Given the description of an element on the screen output the (x, y) to click on. 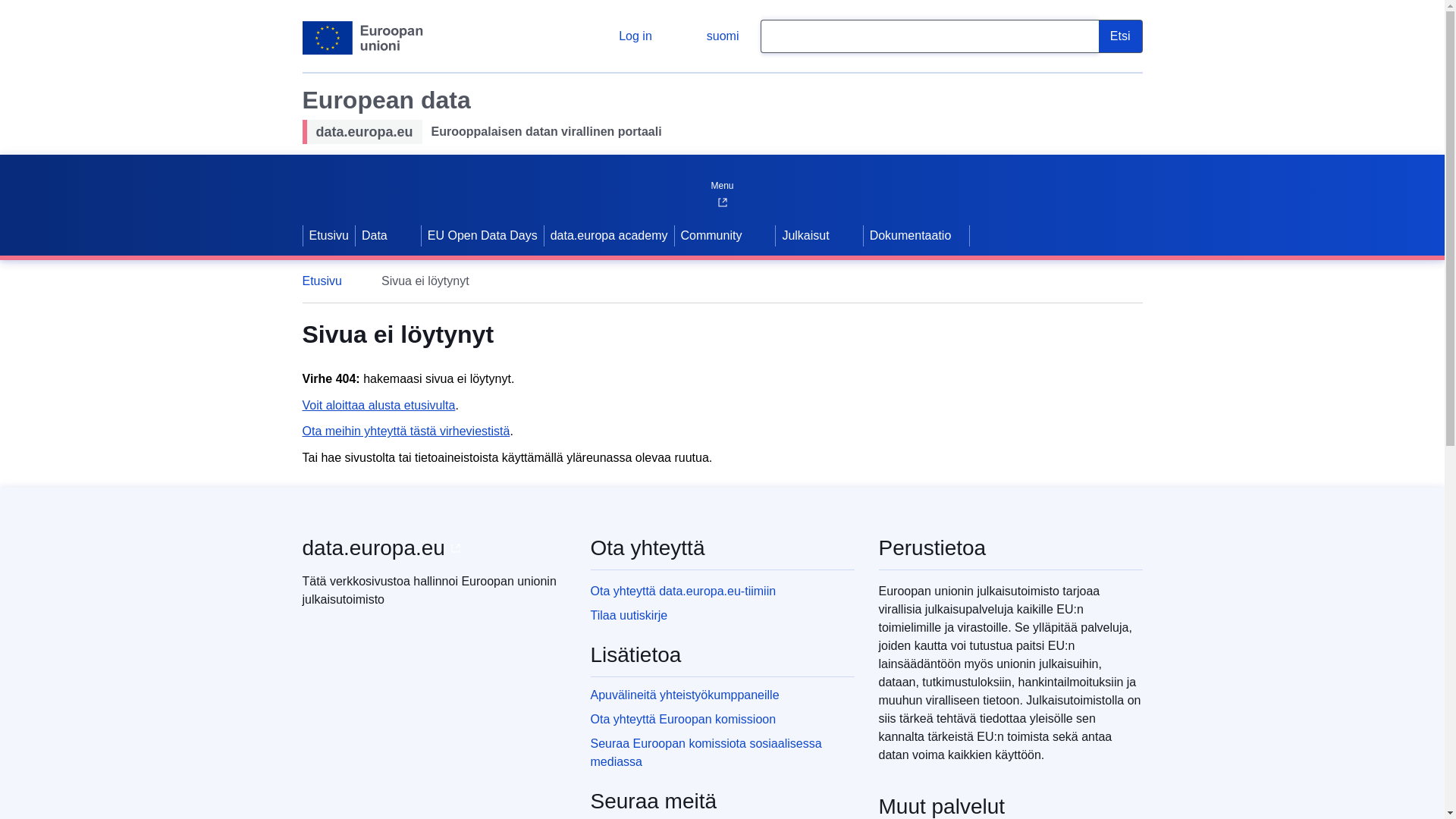
suomi (710, 36)
EU Open Data Days (482, 235)
Julkaisut (803, 235)
Voit aloittaa alusta etusivulta (377, 404)
European Union (362, 37)
Etsi (1120, 36)
Etusivu (328, 235)
Menu (721, 181)
Community (710, 235)
data.europa academy (609, 235)
Etusivu (328, 280)
Log in (622, 36)
Dokumentaatio (916, 235)
